Given the description of an element on the screen output the (x, y) to click on. 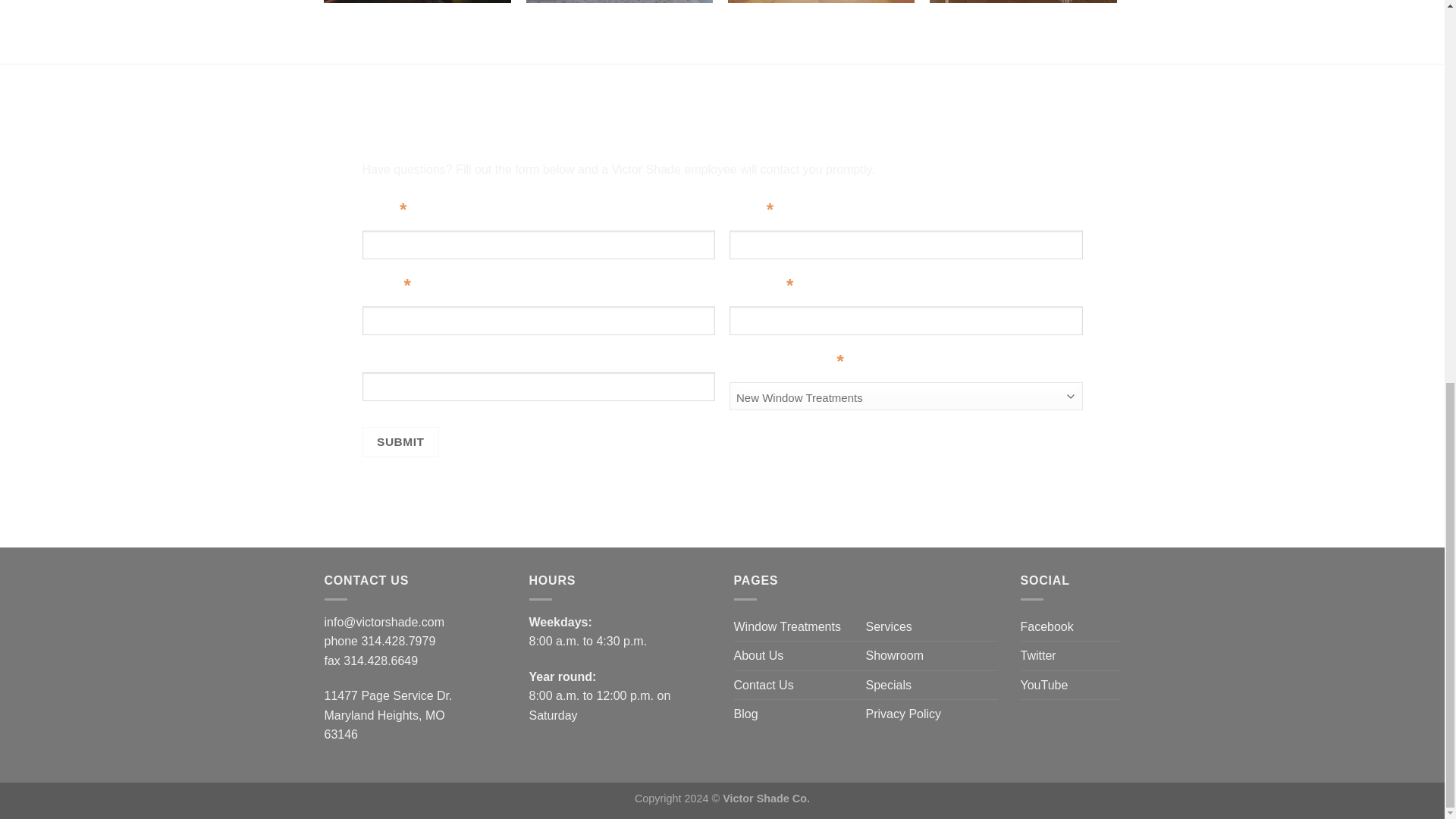
Submit (400, 441)
